Given the description of an element on the screen output the (x, y) to click on. 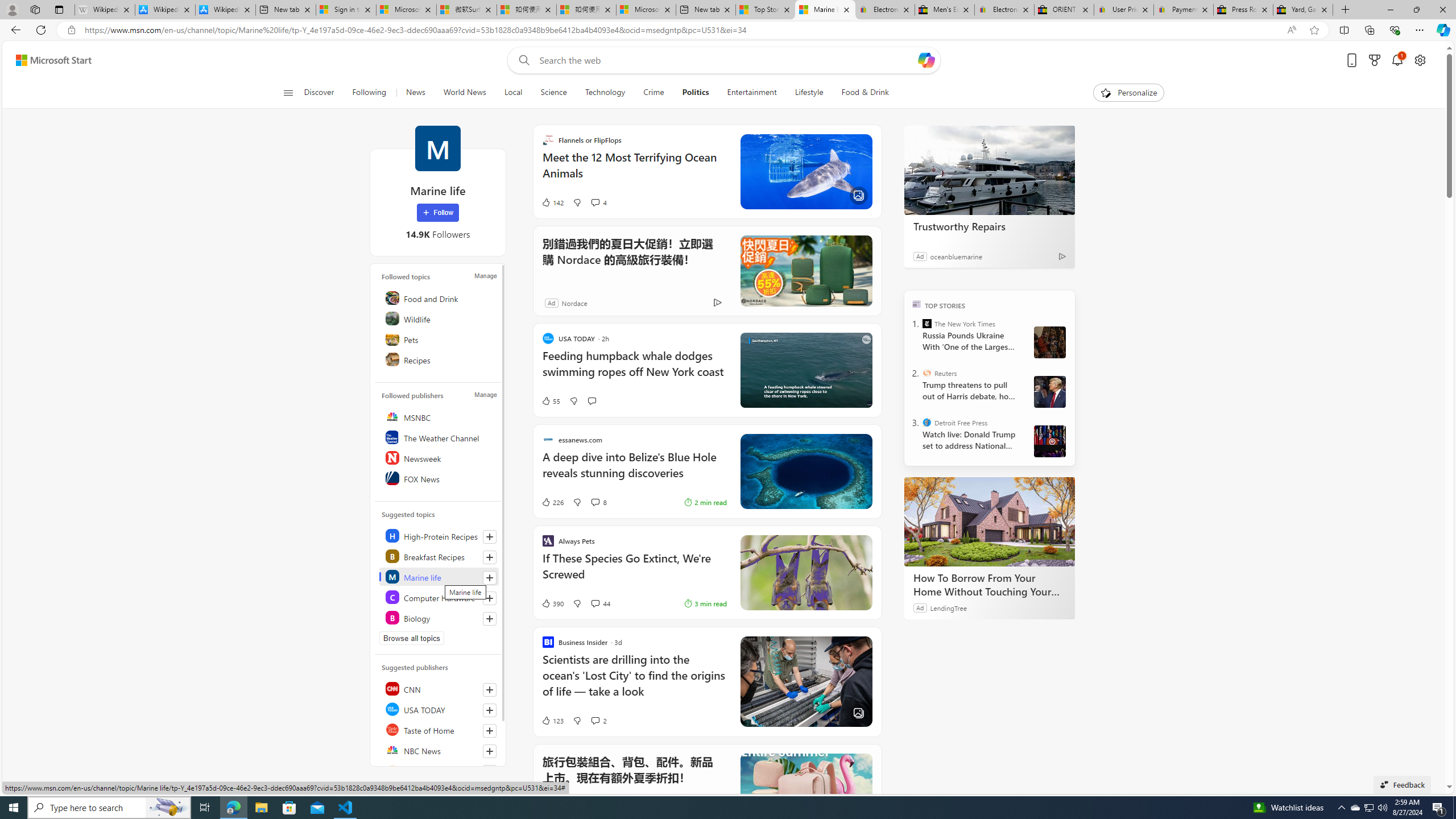
390 Like (551, 603)
Reuters (927, 372)
View comments 4 Comment (594, 202)
Newsweek (439, 457)
